Given the description of an element on the screen output the (x, y) to click on. 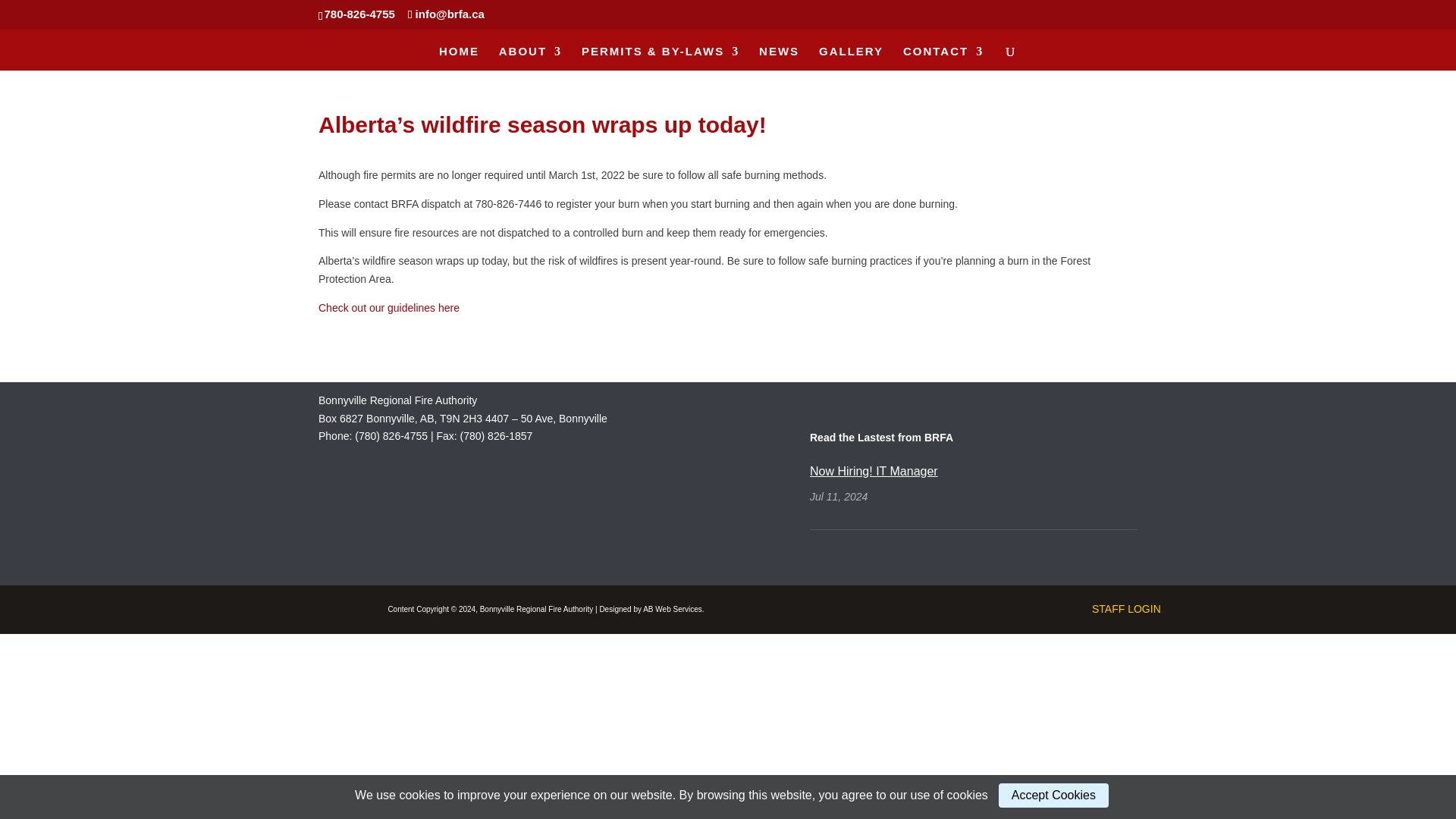
CONTACT (943, 57)
NEWS (778, 57)
ABOUT (530, 57)
GALLERY (850, 57)
HOME (459, 57)
